Given the description of an element on the screen output the (x, y) to click on. 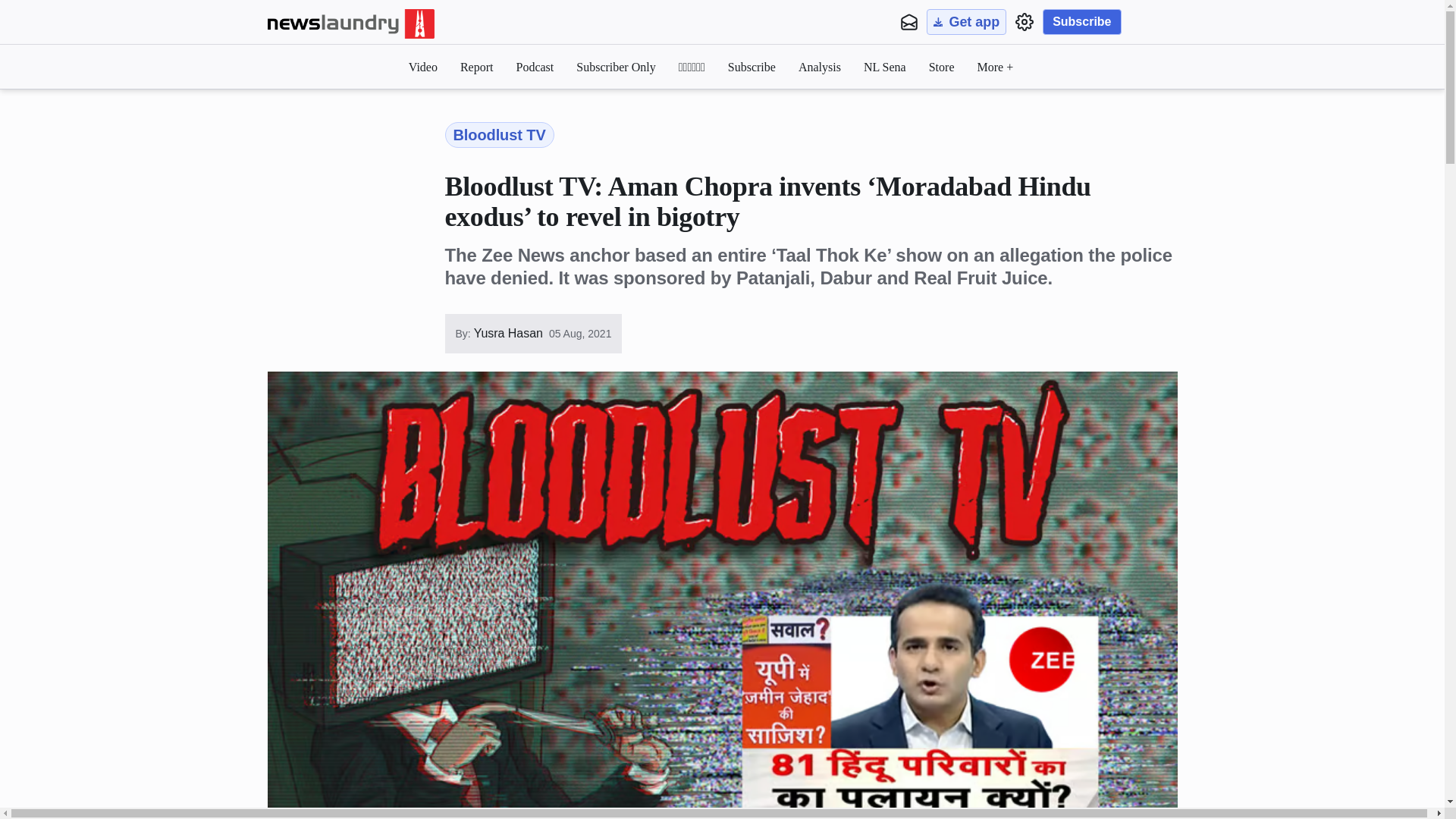
Store (941, 66)
Yusra Hasan (506, 333)
Video (423, 66)
Subscribe (752, 66)
Get app (966, 22)
Analysis (819, 66)
2021-08-05 13:37 (579, 333)
More (994, 66)
Report (476, 66)
Subscribe (1081, 22)
